Given the description of an element on the screen output the (x, y) to click on. 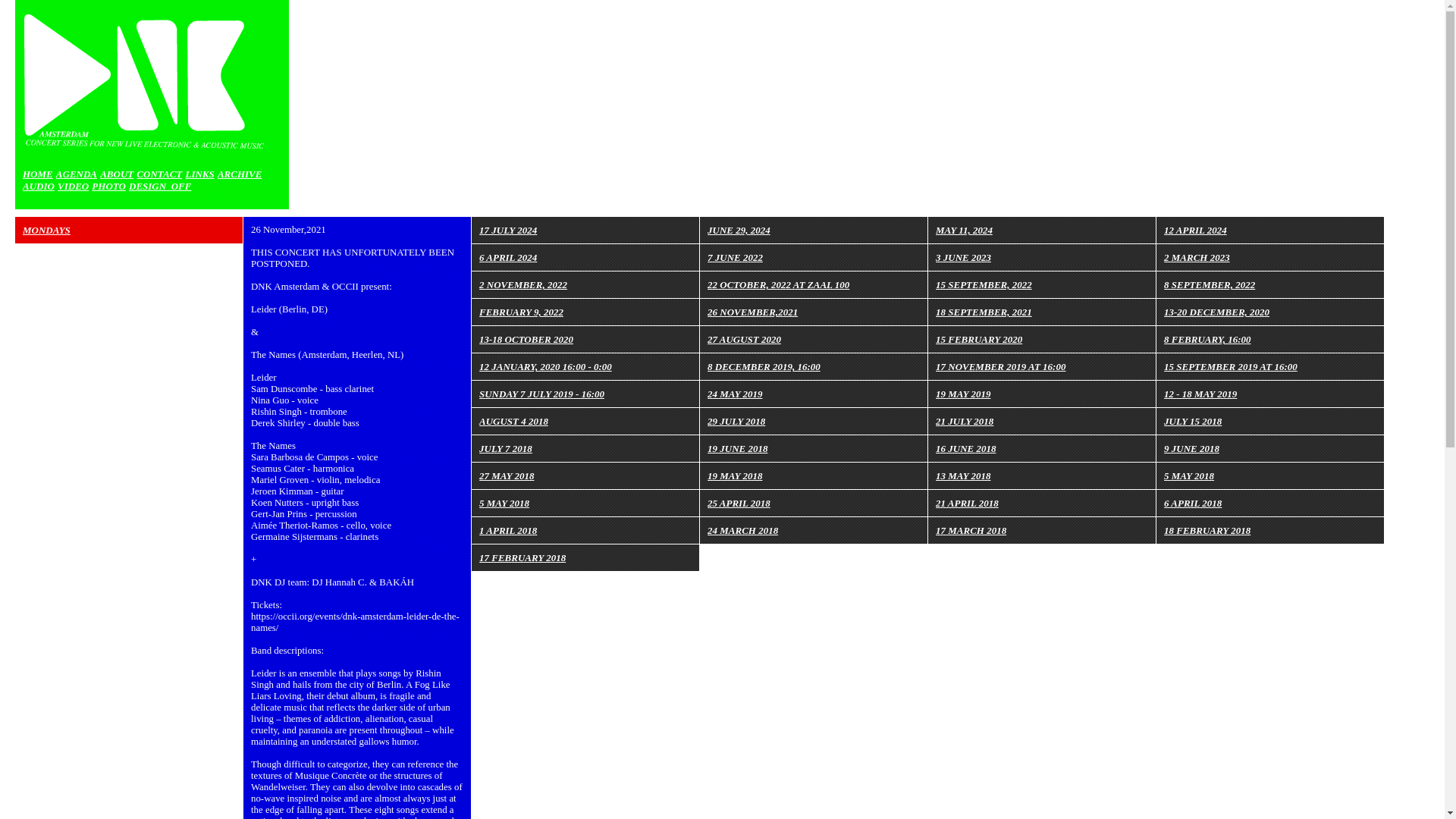
JUNE 29, 2024 (738, 229)
HOME (37, 173)
AUDIO (39, 185)
15 FEBRUARY 2020 (979, 338)
12 APRIL 2024 (1195, 229)
17 NOVEMBER 2019 AT 16:00 (1000, 366)
15 SEPTEMBER 2019 AT 16:00 (1230, 366)
VIDEO (73, 185)
19 MAY 2019 (963, 393)
12 - 18 MAY 2019 (1199, 393)
27 AUGUST 2020 (743, 338)
MAY 11, 2024 (964, 229)
8 FEBRUARY, 16:00 (1206, 338)
ABOUT (116, 173)
FEBRUARY 9, 2022 (521, 311)
